Given the description of an element on the screen output the (x, y) to click on. 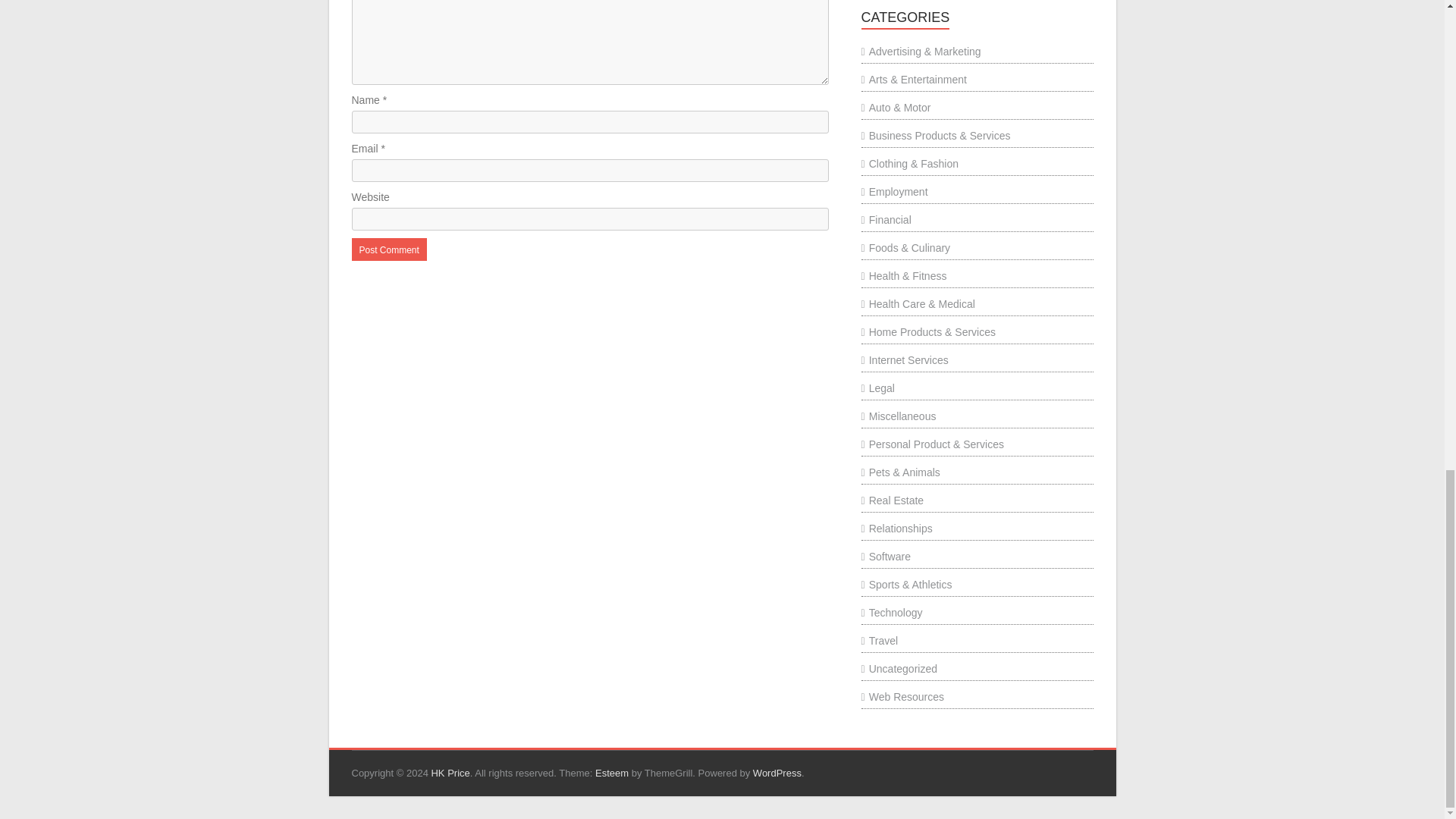
Esteem (611, 772)
Post Comment (389, 249)
Post Comment (389, 249)
HK Price (449, 772)
WordPress (777, 772)
